Given the description of an element on the screen output the (x, y) to click on. 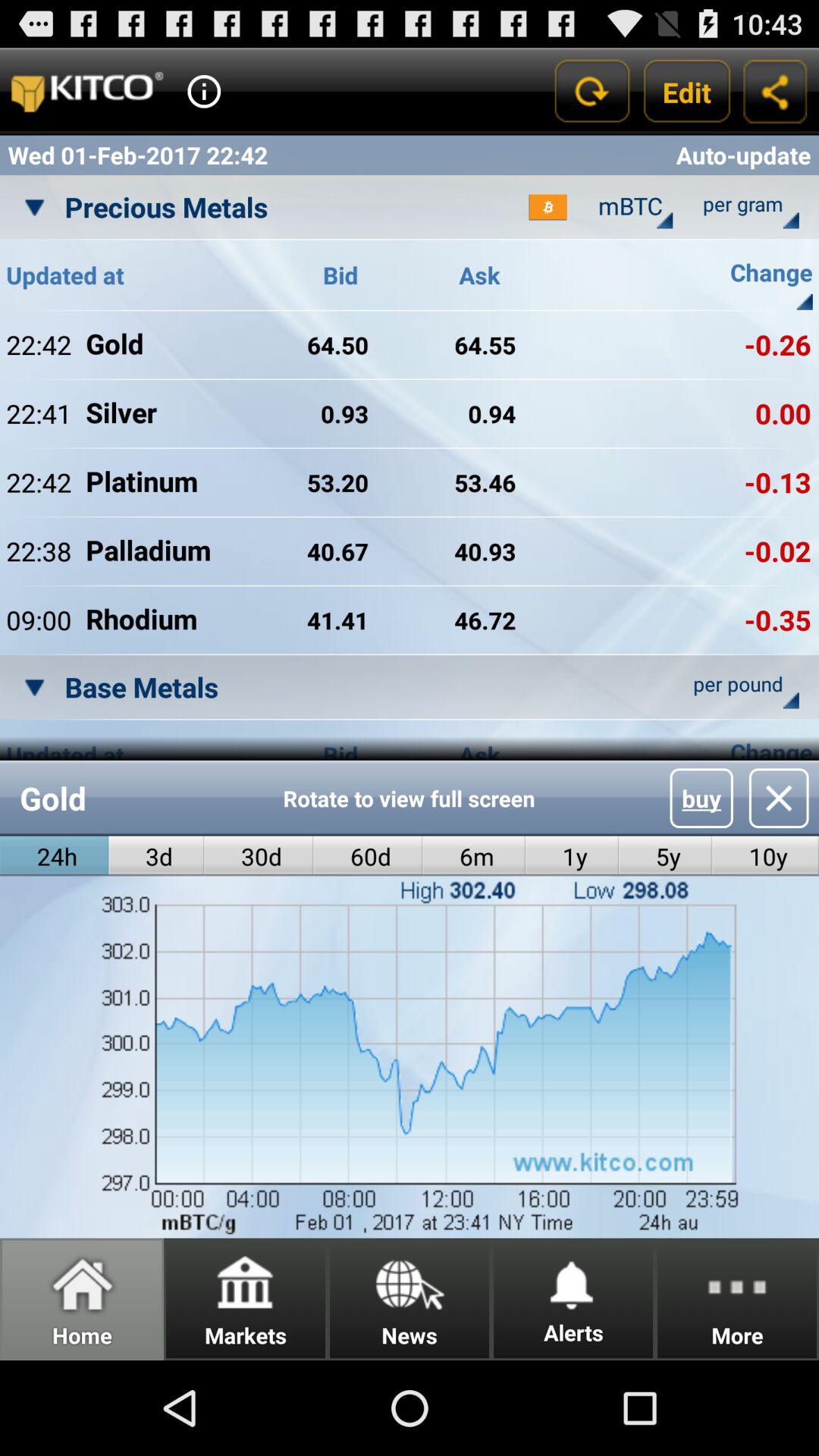
press icon next to 1y icon (473, 856)
